Given the description of an element on the screen output the (x, y) to click on. 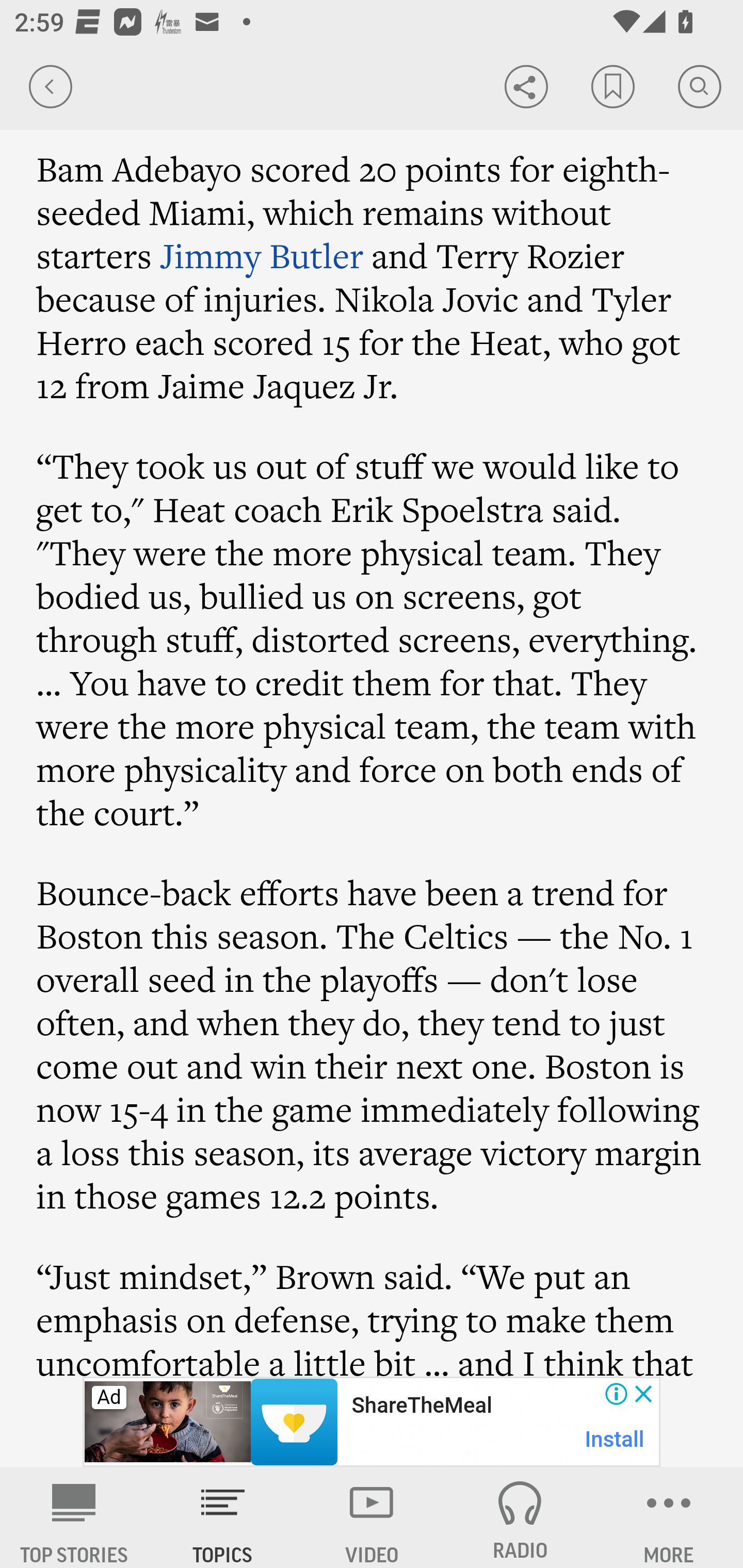
Jimmy Butler (261, 256)
ShareTheMeal (420, 1405)
Install (614, 1438)
AP News TOP STORIES (74, 1517)
TOPICS (222, 1517)
VIDEO (371, 1517)
RADIO (519, 1517)
MORE (668, 1517)
